Given the description of an element on the screen output the (x, y) to click on. 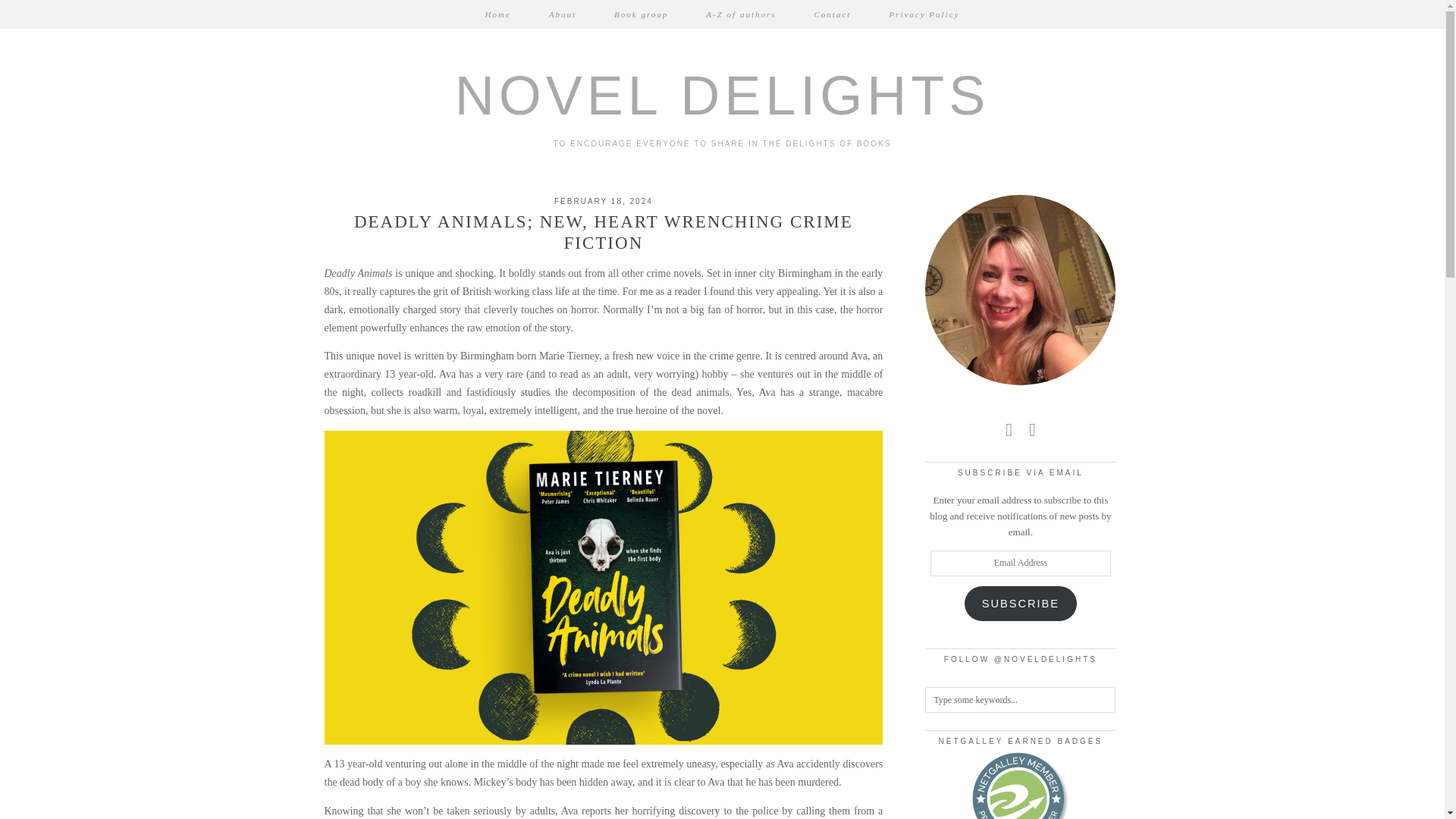
Contact (832, 14)
NOVEL DELIGHTS (722, 95)
Book group (641, 14)
A-Z of authors (740, 14)
Privacy Policy (923, 14)
Novel Delights (722, 95)
About (562, 14)
Home (497, 14)
